Given the description of an element on the screen output the (x, y) to click on. 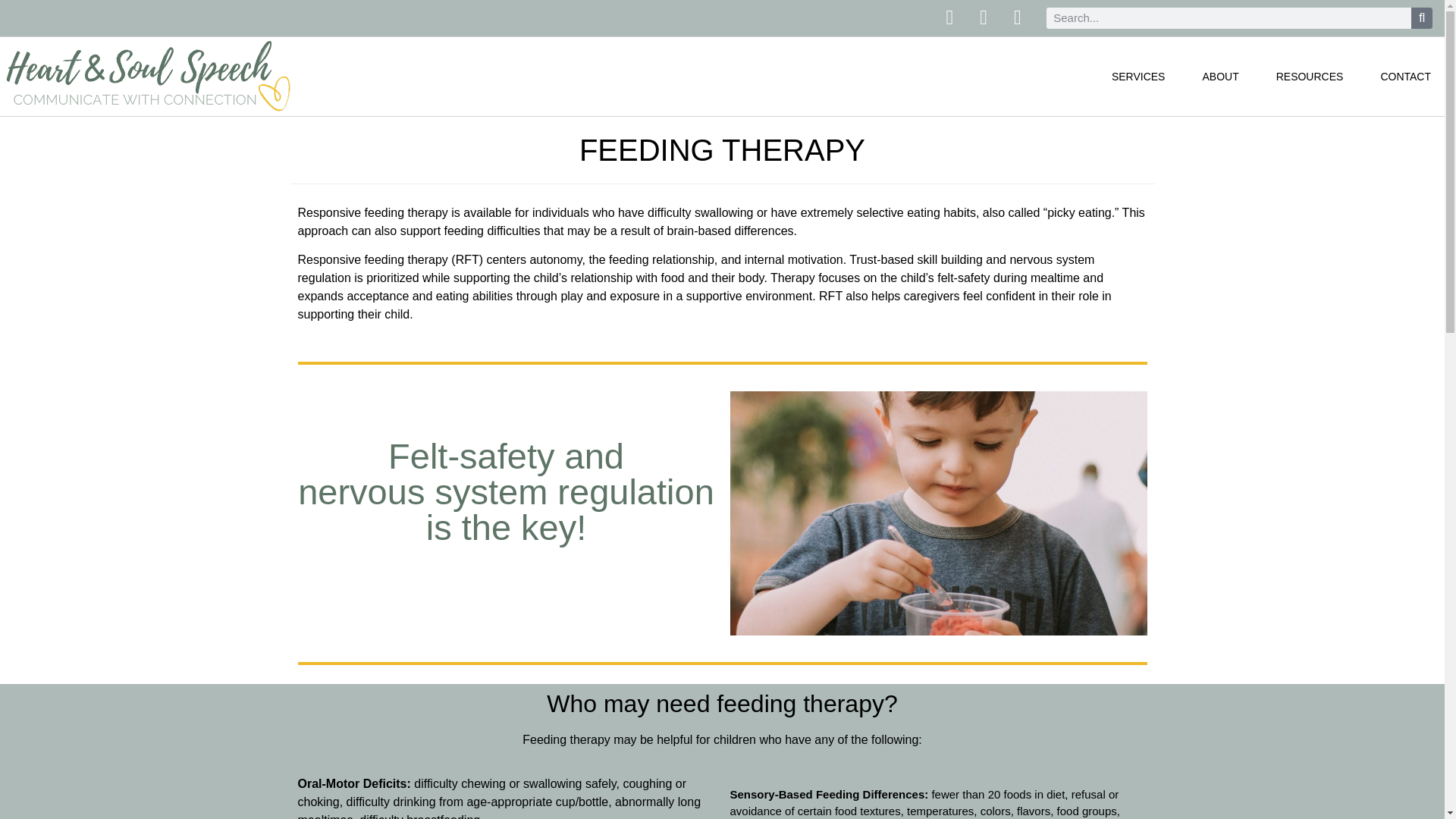
anton-darius-sollers-295119 (938, 513)
SERVICES (1138, 76)
ABOUT (1220, 76)
RESOURCES (1309, 76)
